Given the description of an element on the screen output the (x, y) to click on. 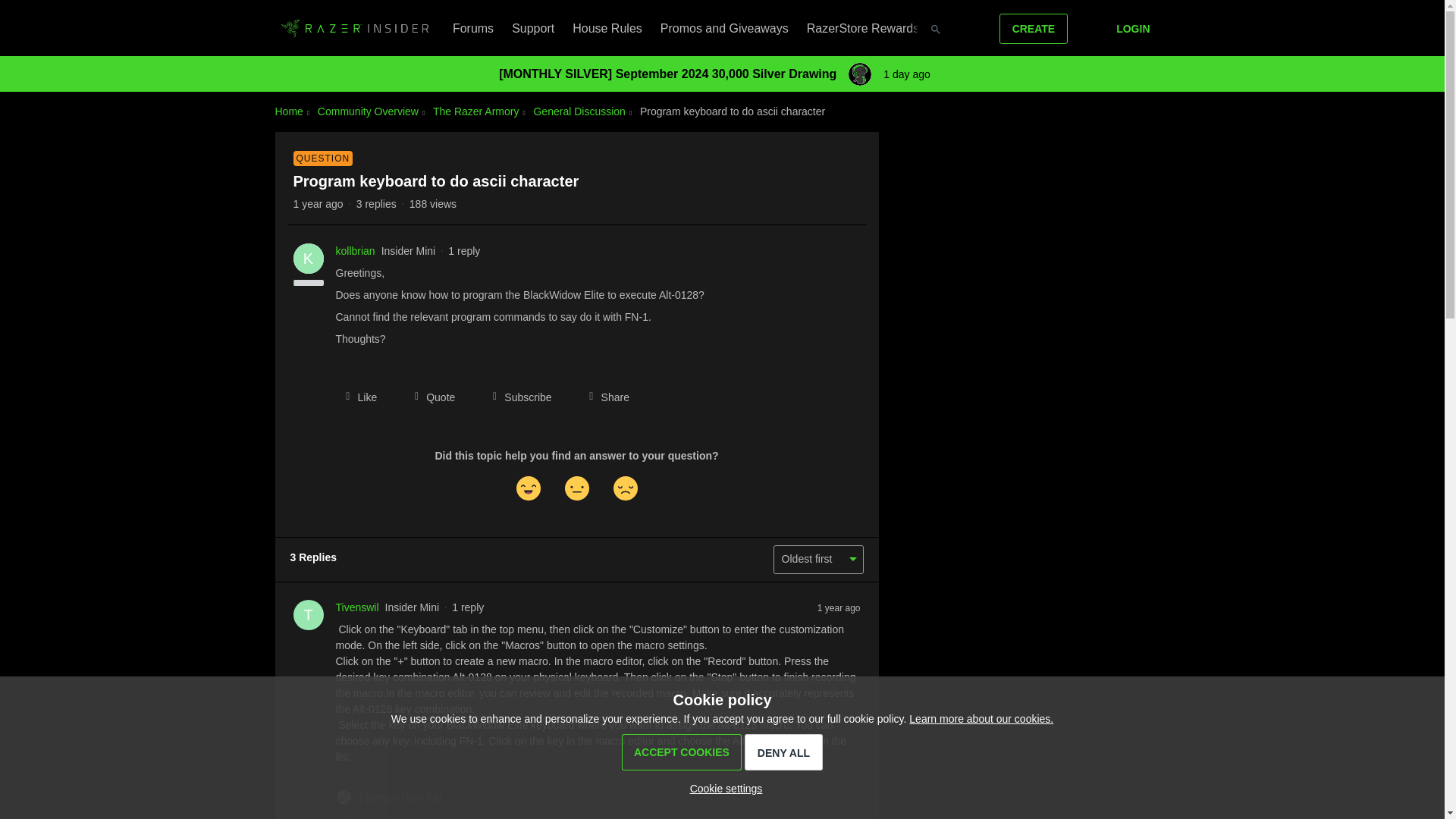
3 replies (376, 203)
House Rules (607, 28)
Tivenswil (356, 607)
Forums (472, 28)
RazerStore Rewards (863, 28)
Home (288, 111)
Create (1033, 28)
Quote (429, 396)
General Discussion (578, 111)
Support (533, 28)
